Given the description of an element on the screen output the (x, y) to click on. 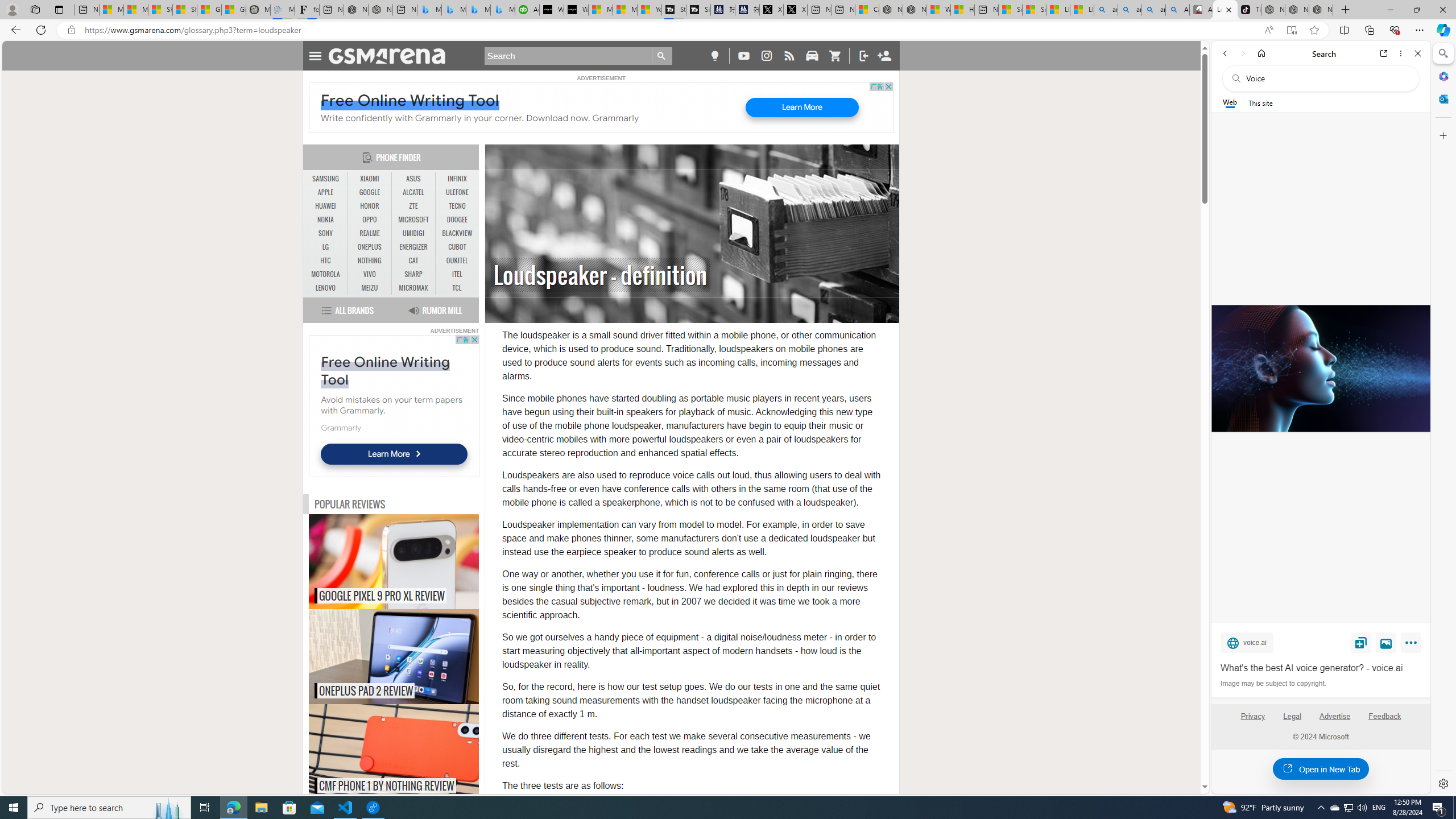
Legal (1291, 715)
UMIDIGI (413, 233)
SAMSUNG (325, 178)
Google Pixel 9 Pro XL review GOOGLE PIXEL 9 PRO XL REVIEW (393, 561)
NOTHING (369, 260)
LENOVO (325, 287)
